Given the description of an element on the screen output the (x, y) to click on. 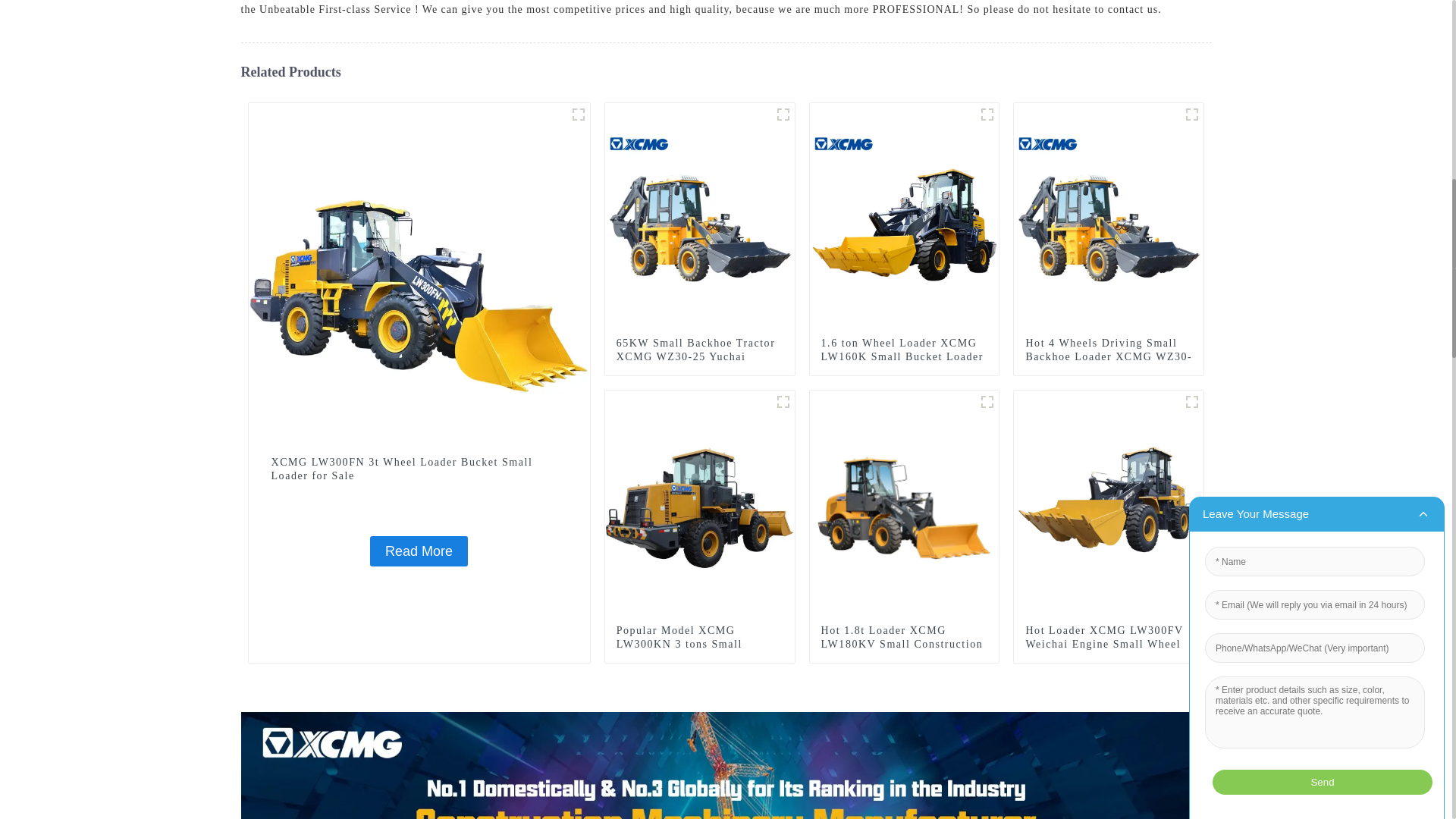
XCMG wheel loader LW300FN 001 (578, 114)
XCMG LW300FN 3t  Wheel Loader Bucket Small Loader for Sale (418, 551)
1 (782, 114)
1 (1192, 114)
1.6 ton Wheel Loader XCMG LW160K Small Bucket Loader (904, 349)
1.6 ton Wheel Loader XCMG LW160K Small Bucket Loader (904, 349)
1.6 ton Wheel Loader XCMG LW160K Small Bucket Loader (903, 216)
XCMG LW300FN 3t Wheel Loader Bucket Small Loader for Sale (418, 469)
XCMG wheel loader LW160K 001 (986, 114)
Read More (418, 551)
Hot 1.8t Loader XCMG LW180KV Small Construction Wheel Loader (904, 644)
